Given the description of an element on the screen output the (x, y) to click on. 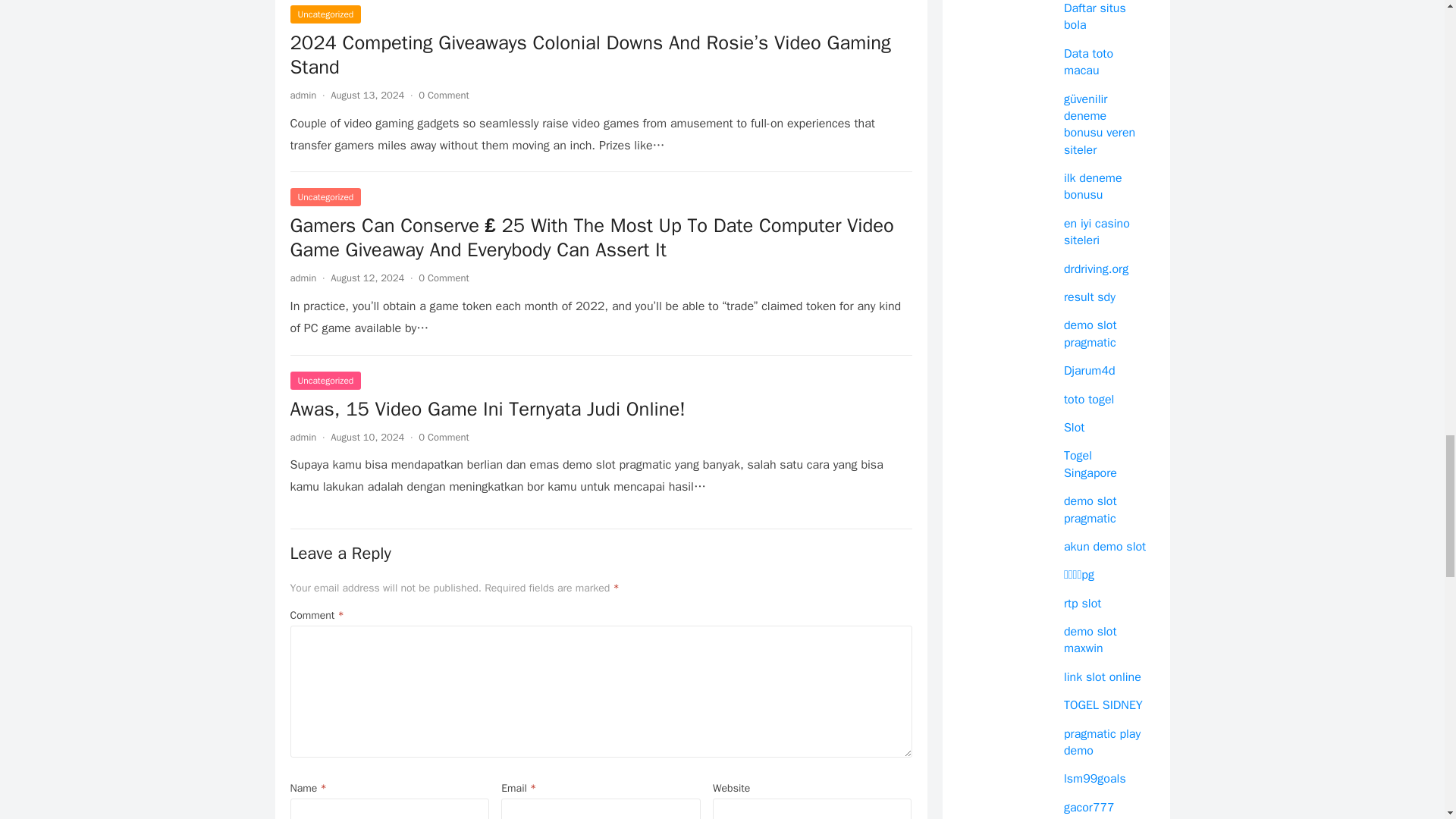
Uncategorized (325, 13)
Posts by admin (302, 436)
0 Comment (443, 94)
0 Comment (443, 436)
Uncategorized (325, 380)
Uncategorized (325, 197)
admin (302, 94)
Posts by admin (302, 277)
admin (302, 277)
Posts by admin (302, 94)
